Given the description of an element on the screen output the (x, y) to click on. 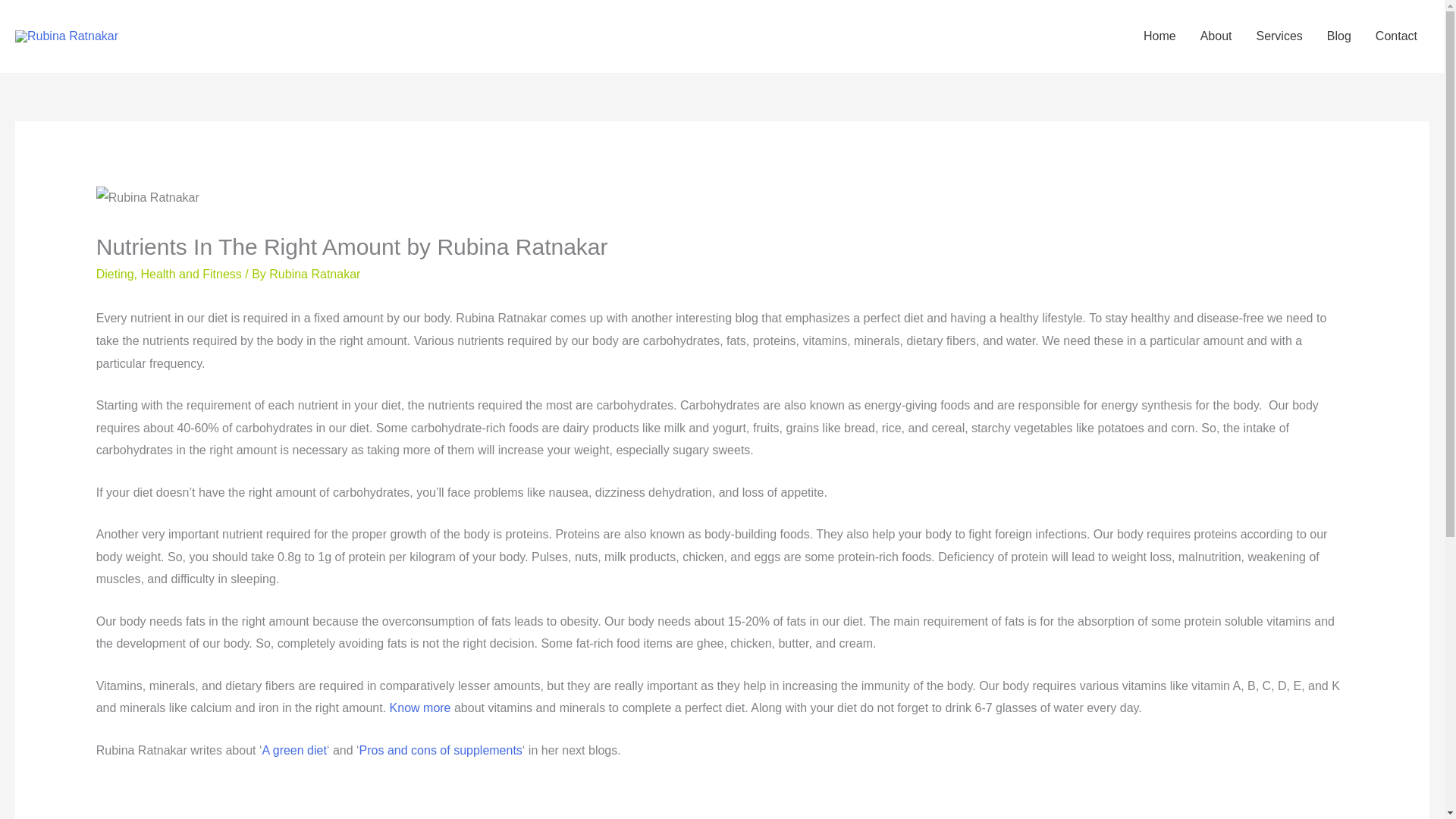
Home (1159, 36)
A green diet (294, 749)
Contact (1395, 36)
About (1216, 36)
Know more (420, 707)
View all posts by Rubina Ratnakar (314, 273)
Health and Fitness (190, 273)
Blog (1338, 36)
Rubina Ratnakar (314, 273)
Pros and cons of supplements (440, 749)
Dieting (114, 273)
Services (1278, 36)
